Given the description of an element on the screen output the (x, y) to click on. 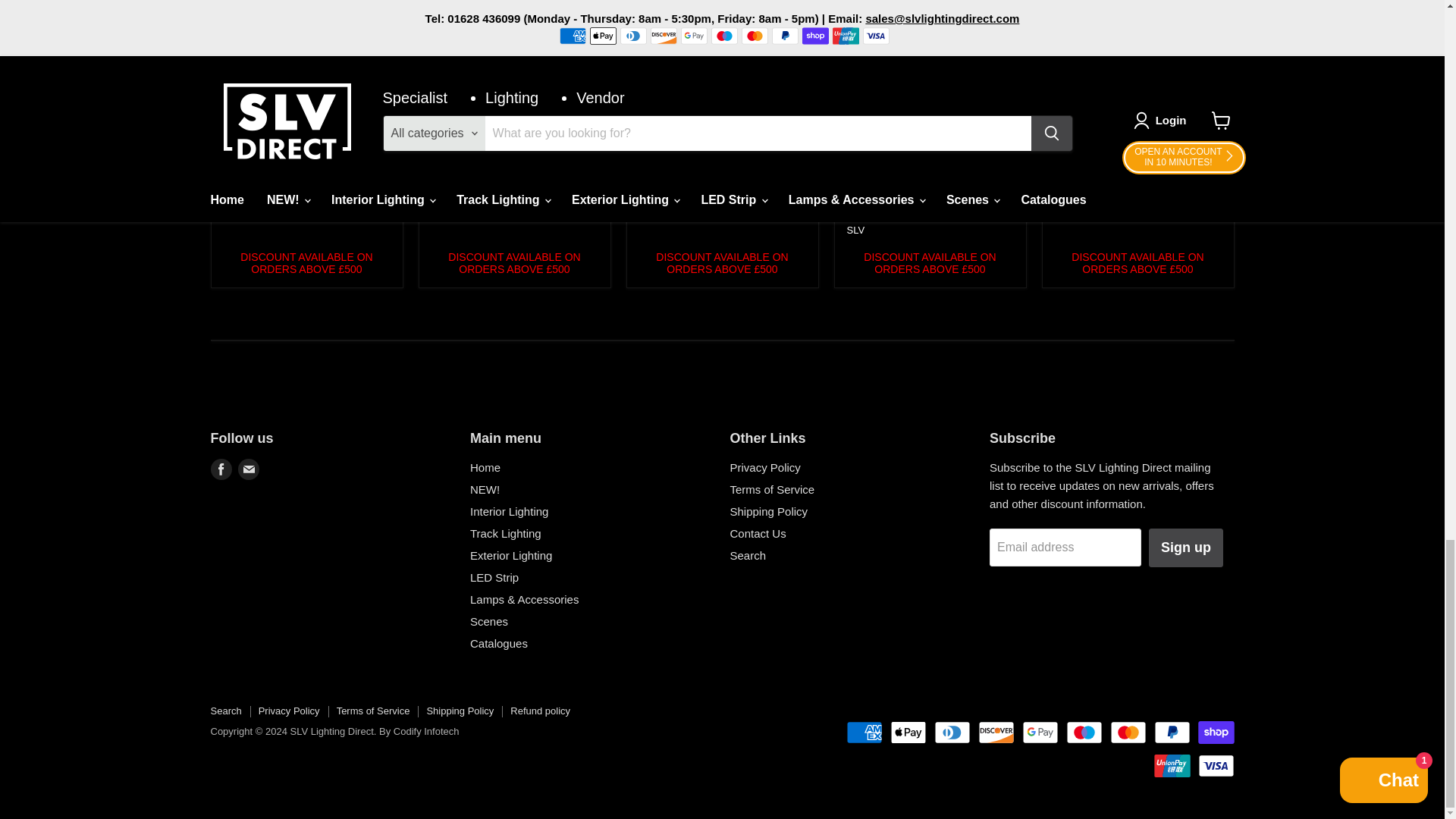
SLV (231, 197)
SLV (1062, 214)
Facebook (221, 468)
SLV (439, 197)
SLV (647, 214)
SLV (854, 229)
Email (248, 468)
